Given the description of an element on the screen output the (x, y) to click on. 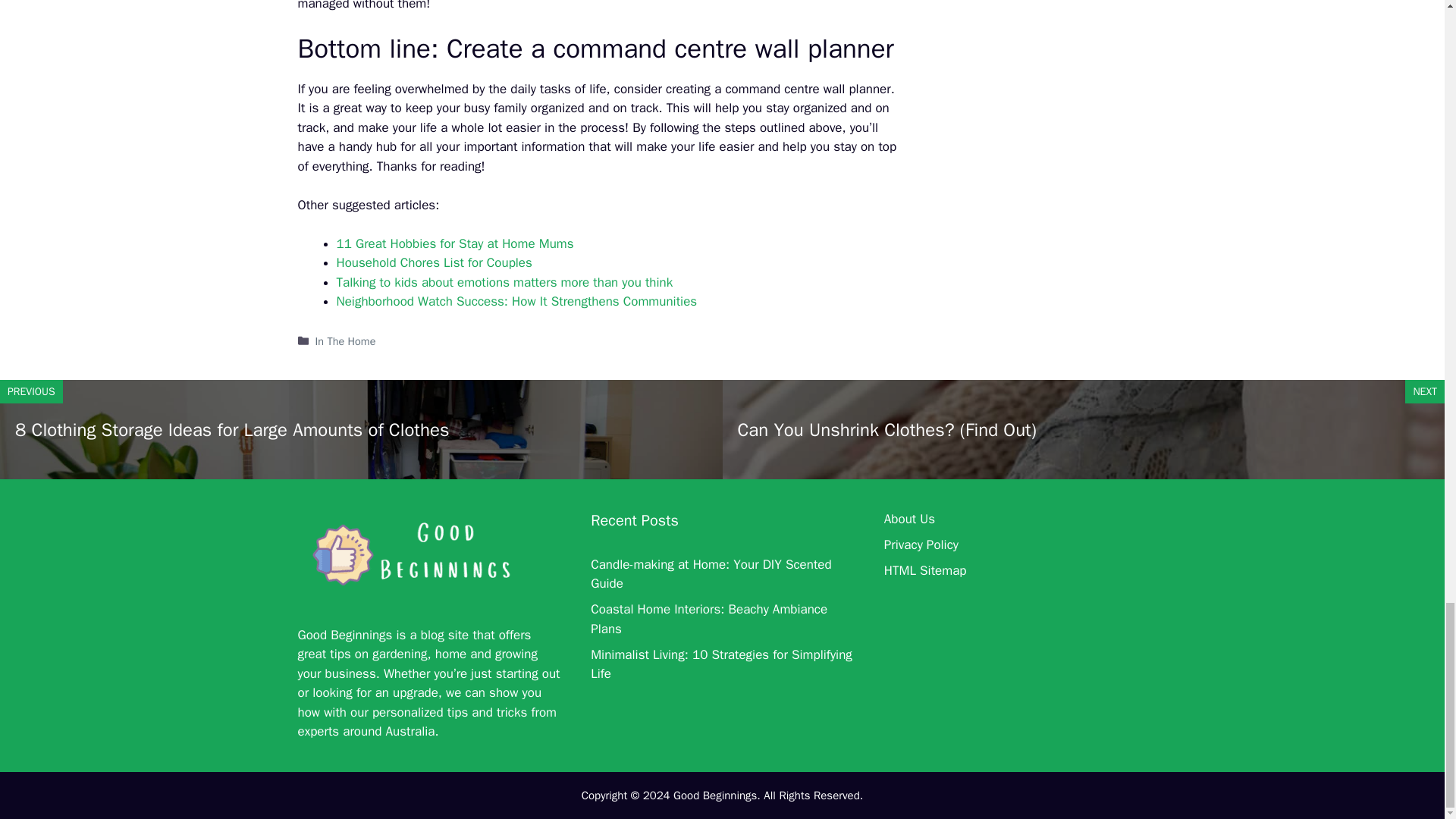
Coastal Home Interiors: Beachy Ambiance Plans (709, 619)
About Us (908, 519)
HTML Sitemap (924, 570)
Privacy Policy (920, 544)
Candle-making at Home: Your DIY Scented Guide (711, 574)
Minimalist Living: 10 Strategies for Simplifying Life (721, 664)
Household Chores List for Couples (434, 262)
Neighborhood Watch Success: How It Strengthens Communities (516, 301)
Talking to kids about emotions matters more than you think (504, 282)
In The Home (345, 341)
